Given the description of an element on the screen output the (x, y) to click on. 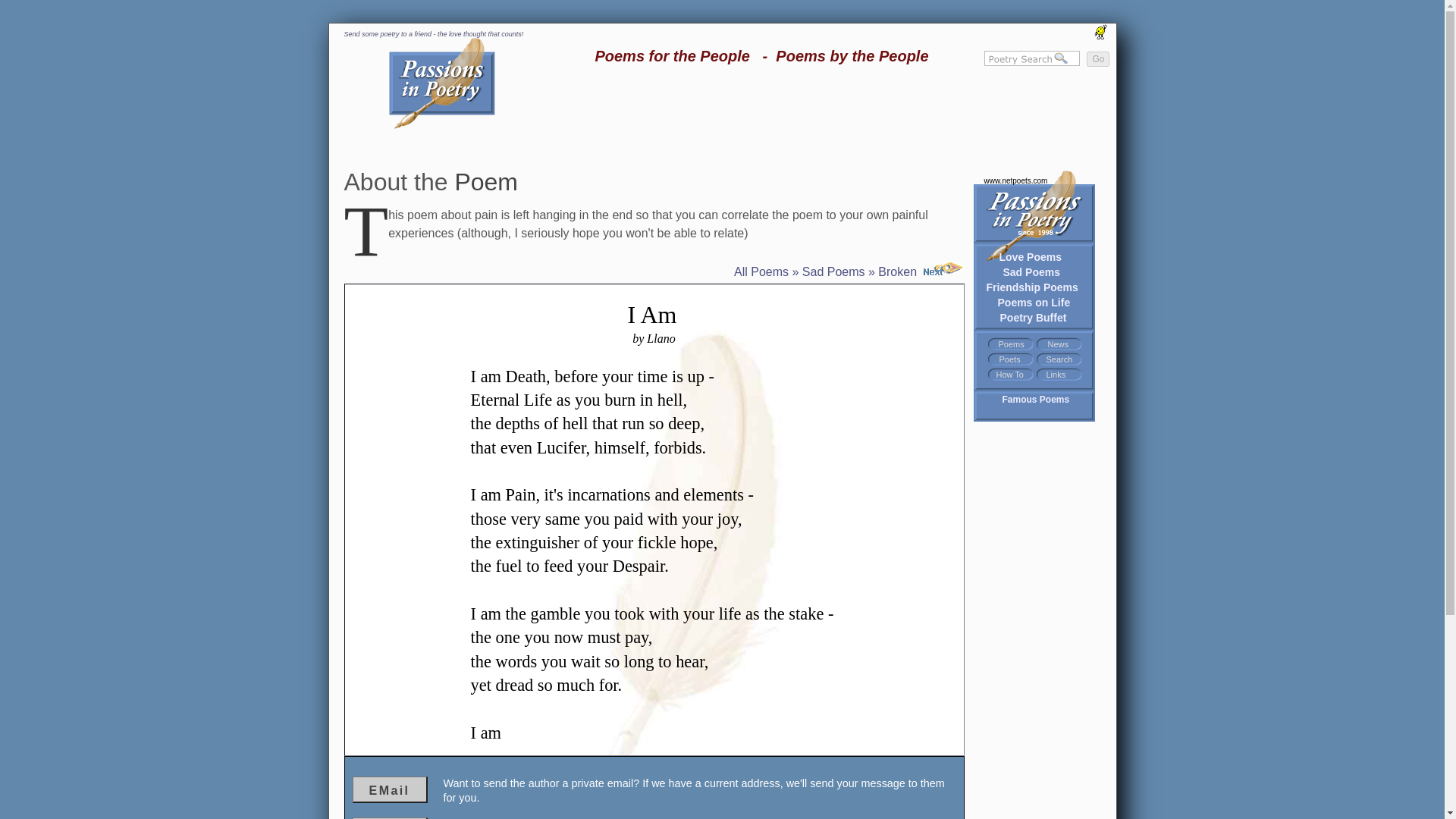
Find an Author (1009, 359)
Friendship Poems (1031, 286)
Passions in Poetry home page (1024, 206)
Poetry Categories Site Map (1010, 344)
Sad Poems (1031, 271)
The Best Public Domain Poetry (1036, 399)
EMail (389, 789)
Response Panel (653, 787)
Poets (1009, 359)
Go (1097, 58)
Poem (486, 181)
Poems (1010, 344)
Advanced Search Options (1059, 359)
Poetry Buffet (1031, 317)
How To (1009, 374)
